Given the description of an element on the screen output the (x, y) to click on. 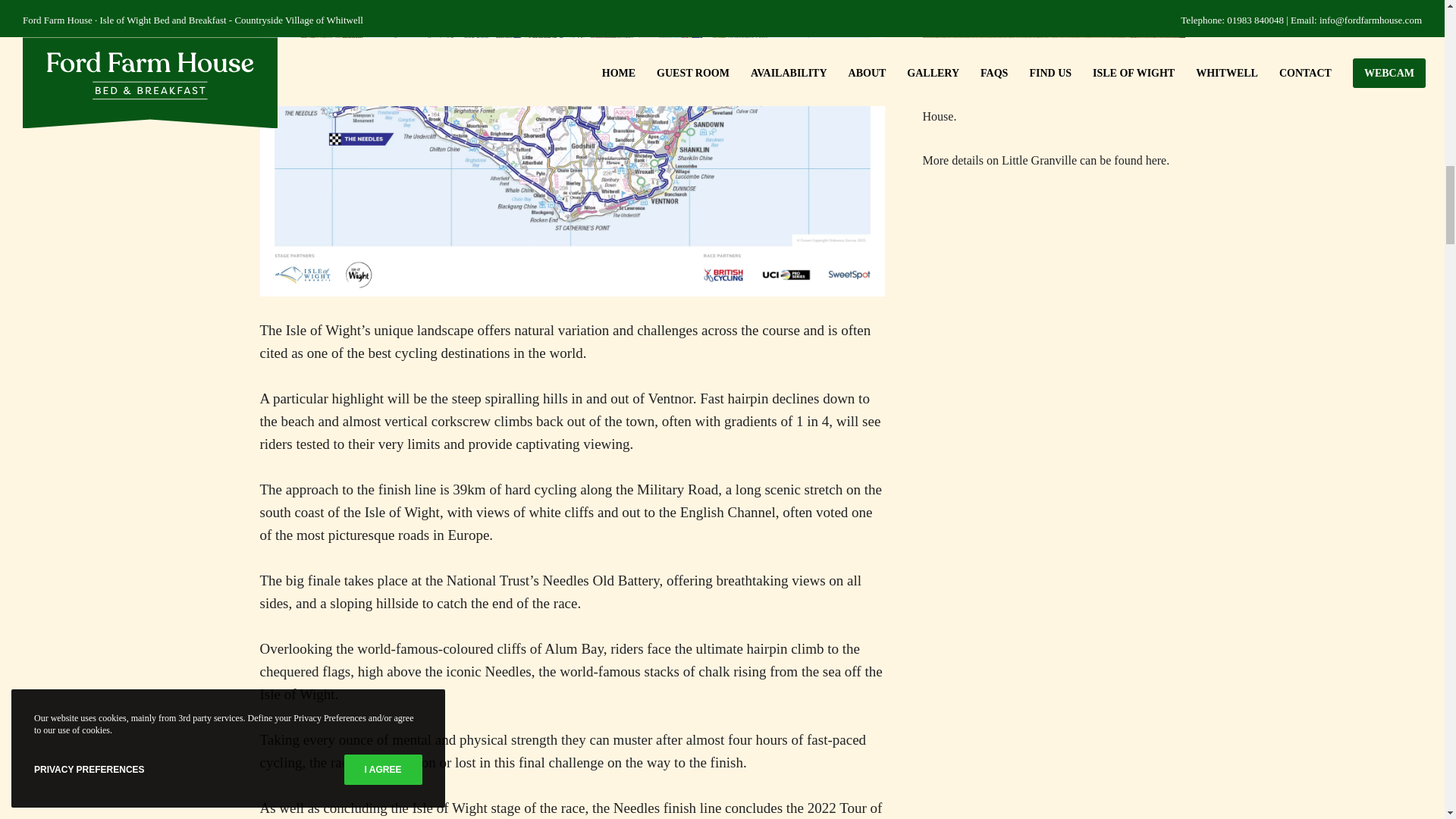
here (1156, 160)
